Given the description of an element on the screen output the (x, y) to click on. 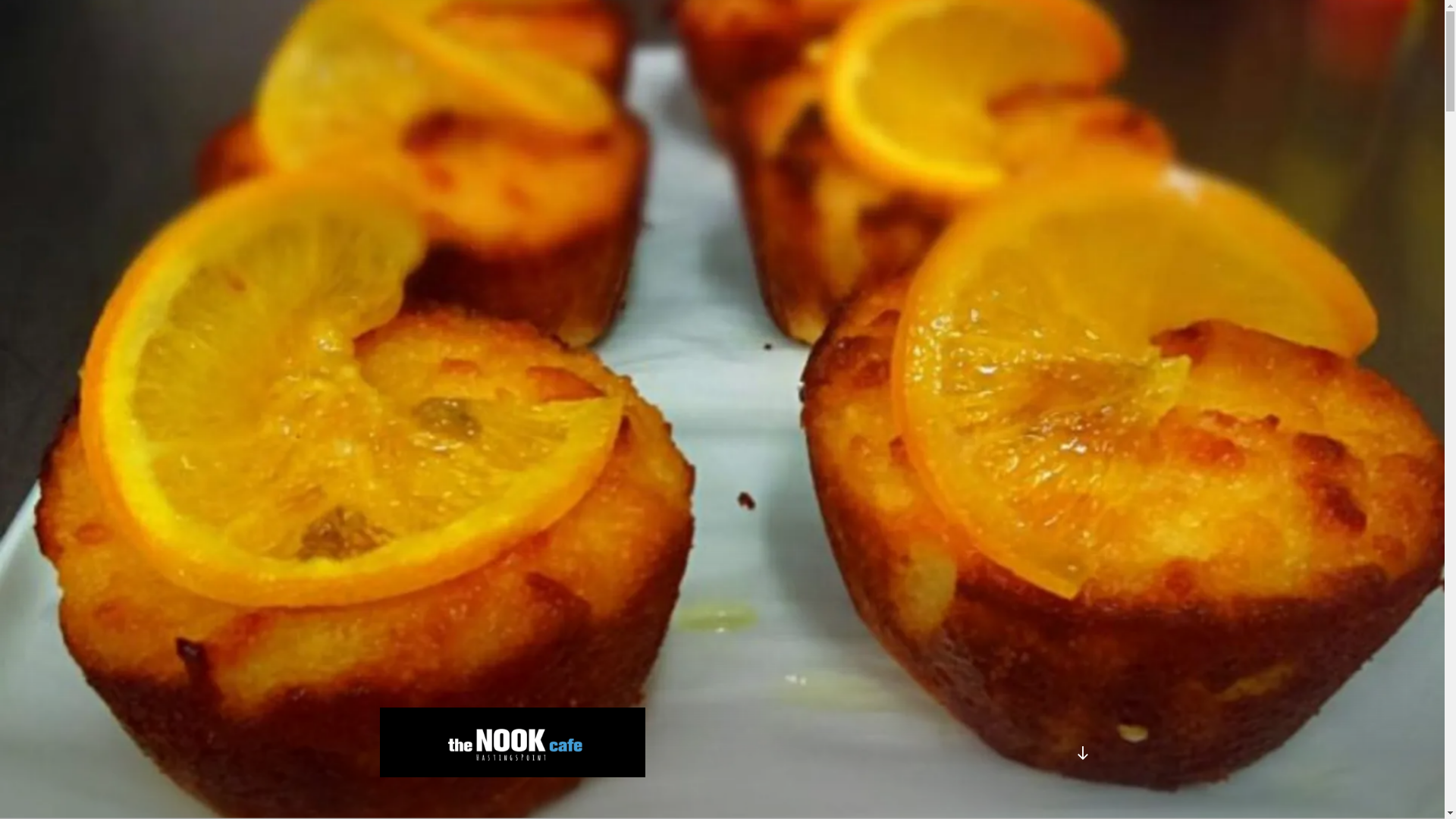
NOOK CAFE Element type: text (471, 798)
Scroll down to content Element type: text (1082, 752)
